Given the description of an element on the screen output the (x, y) to click on. 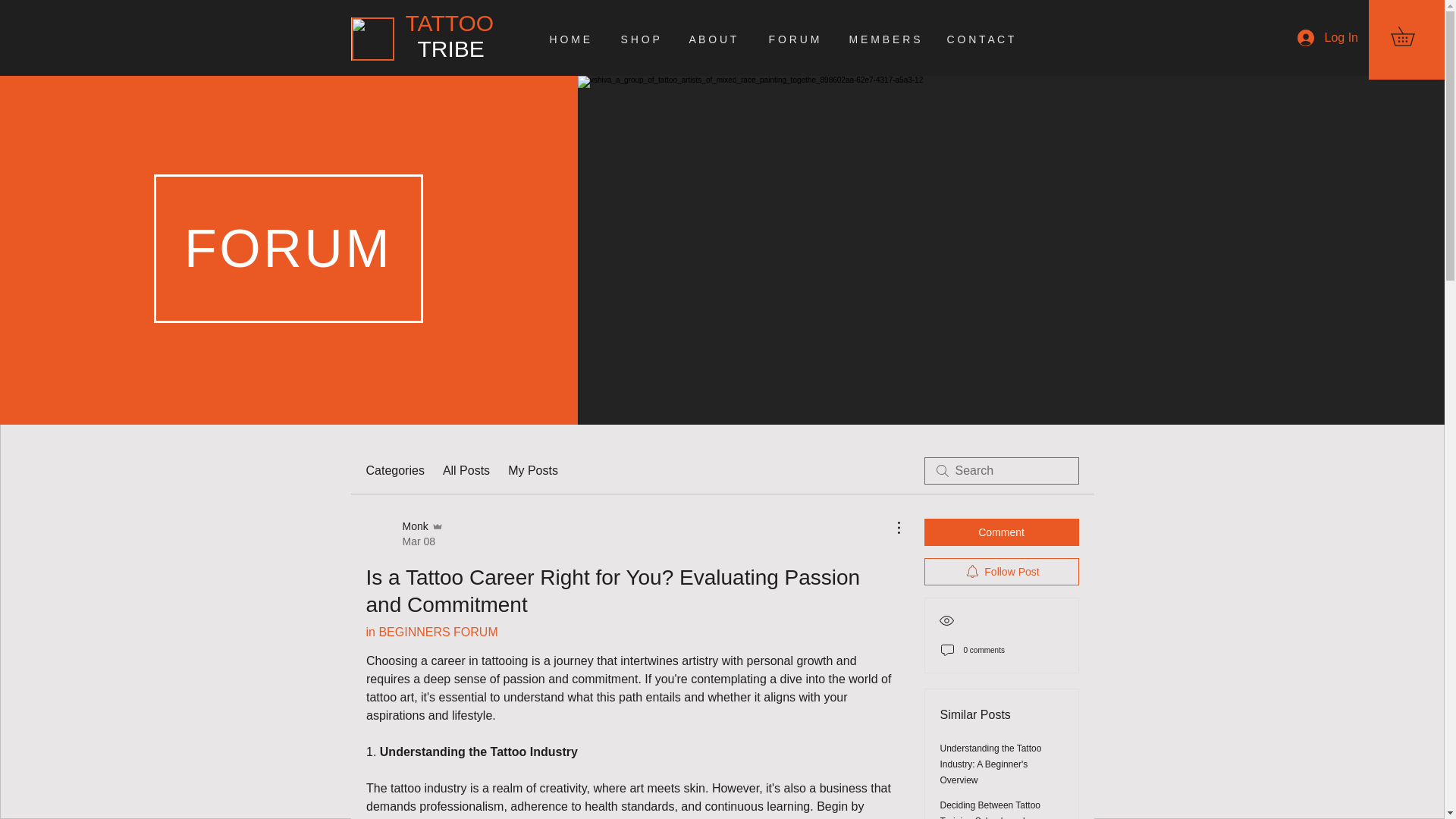
A B O U T (717, 39)
in BEGINNERS FORUM (431, 631)
Follow Post (1000, 571)
Comment (403, 533)
My Posts (1000, 532)
M E M B E R S (532, 470)
F O R U M (885, 39)
C O N T A C T (797, 39)
H O M E (986, 39)
All Posts (574, 39)
TRIBE (465, 470)
S H O P (476, 49)
Categories (644, 39)
Understanding the Tattoo Industry: A Beginner's Overview (394, 470)
